Given the description of an element on the screen output the (x, y) to click on. 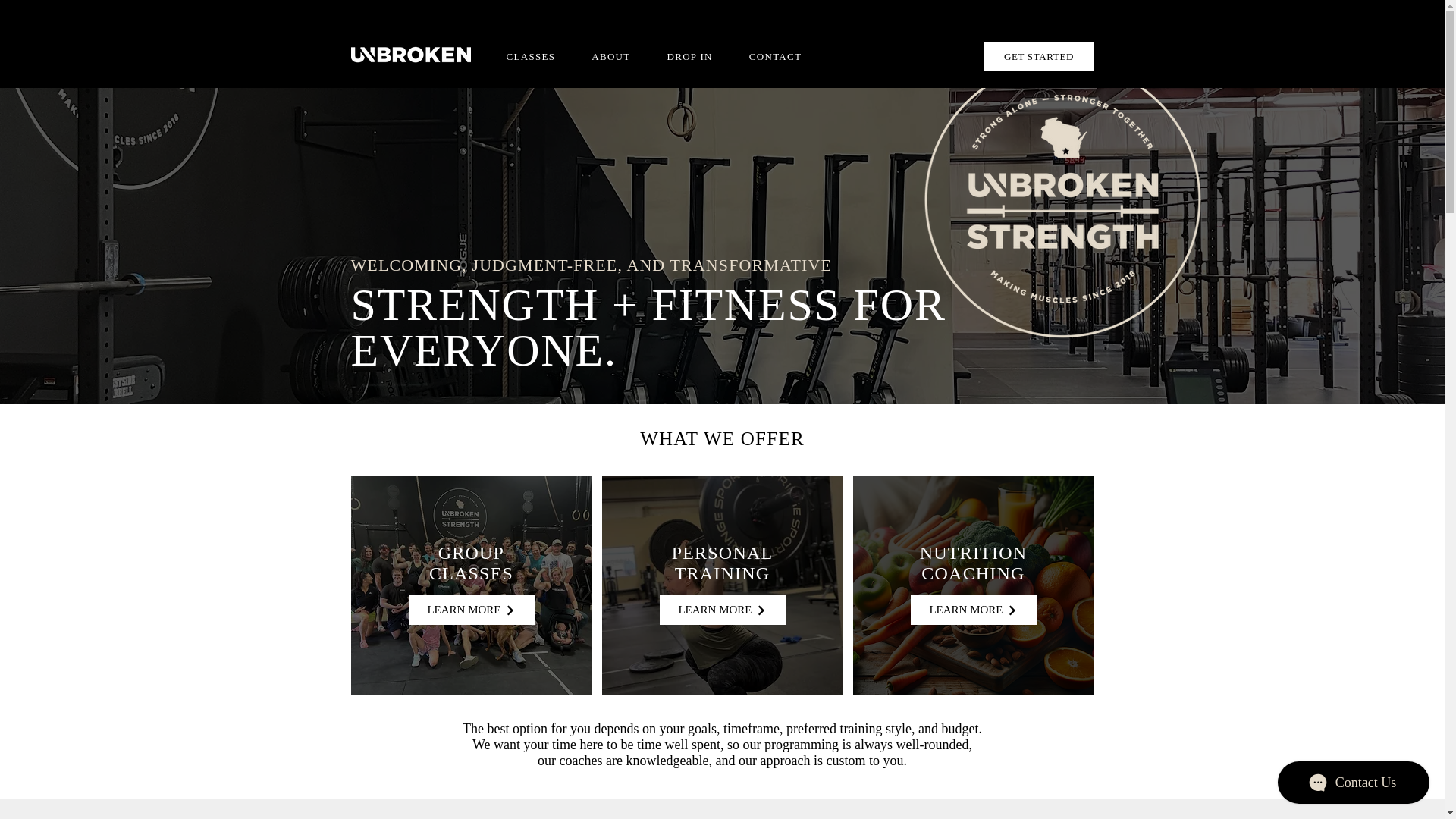
DROP IN (689, 56)
LEARN MORE (722, 609)
CLASSES (531, 56)
LEARN MORE (972, 609)
ABOUT (610, 56)
GET STARTED (1039, 56)
CONTACT (775, 56)
LEARN MORE (470, 609)
